Given the description of an element on the screen output the (x, y) to click on. 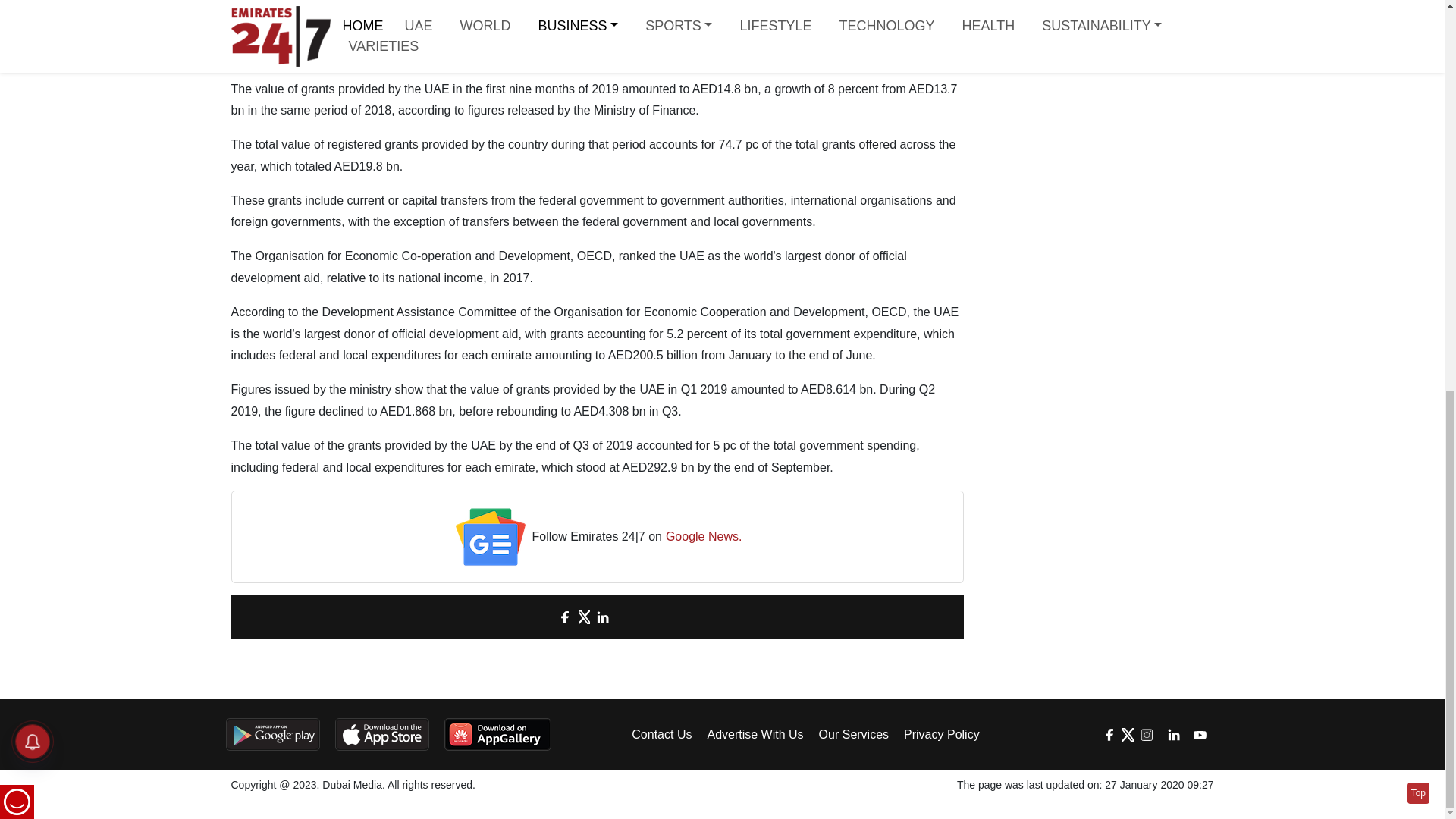
Google News. (703, 536)
